Given the description of an element on the screen output the (x, y) to click on. 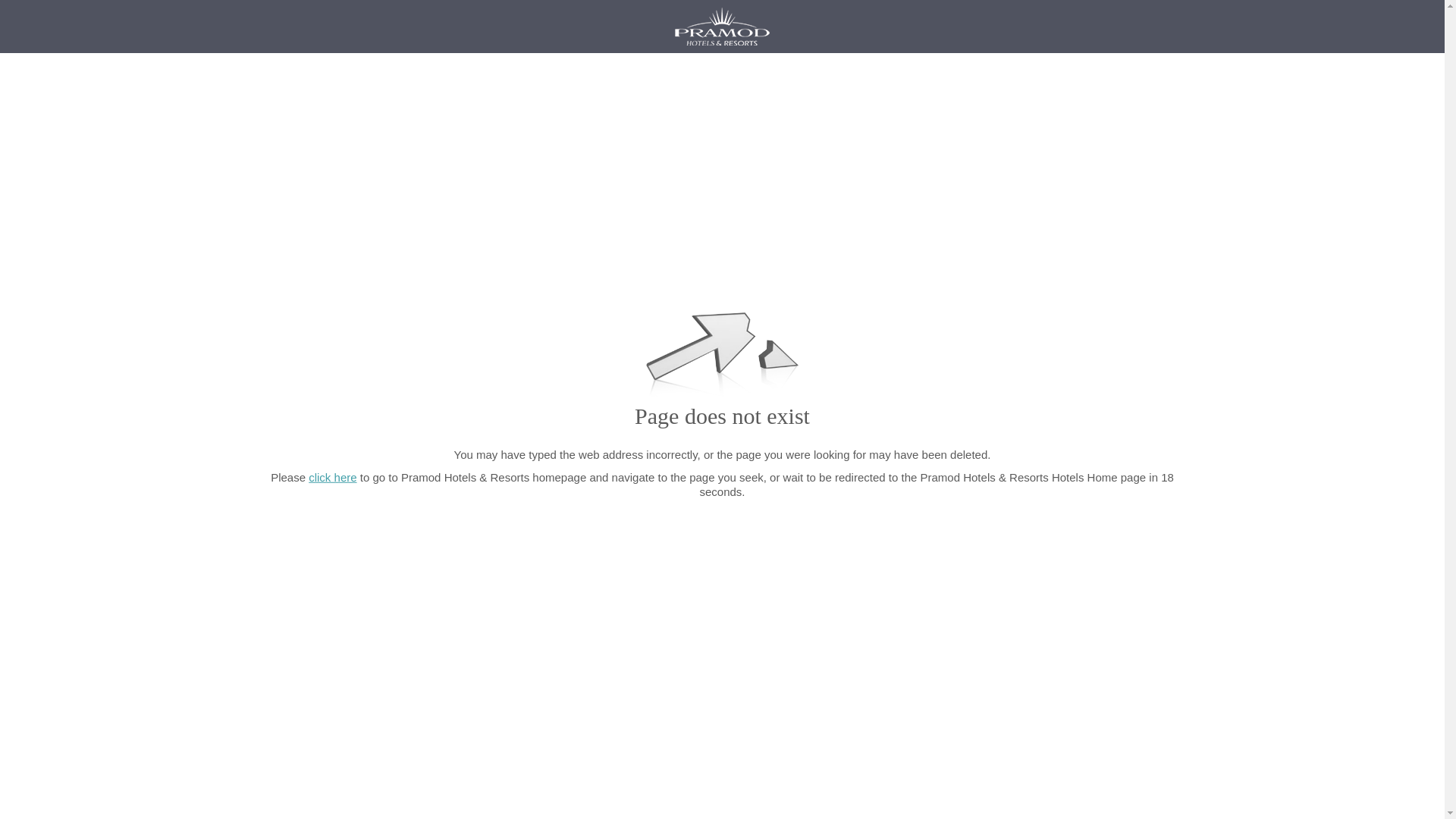
click here (332, 476)
